Given the description of an element on the screen output the (x, y) to click on. 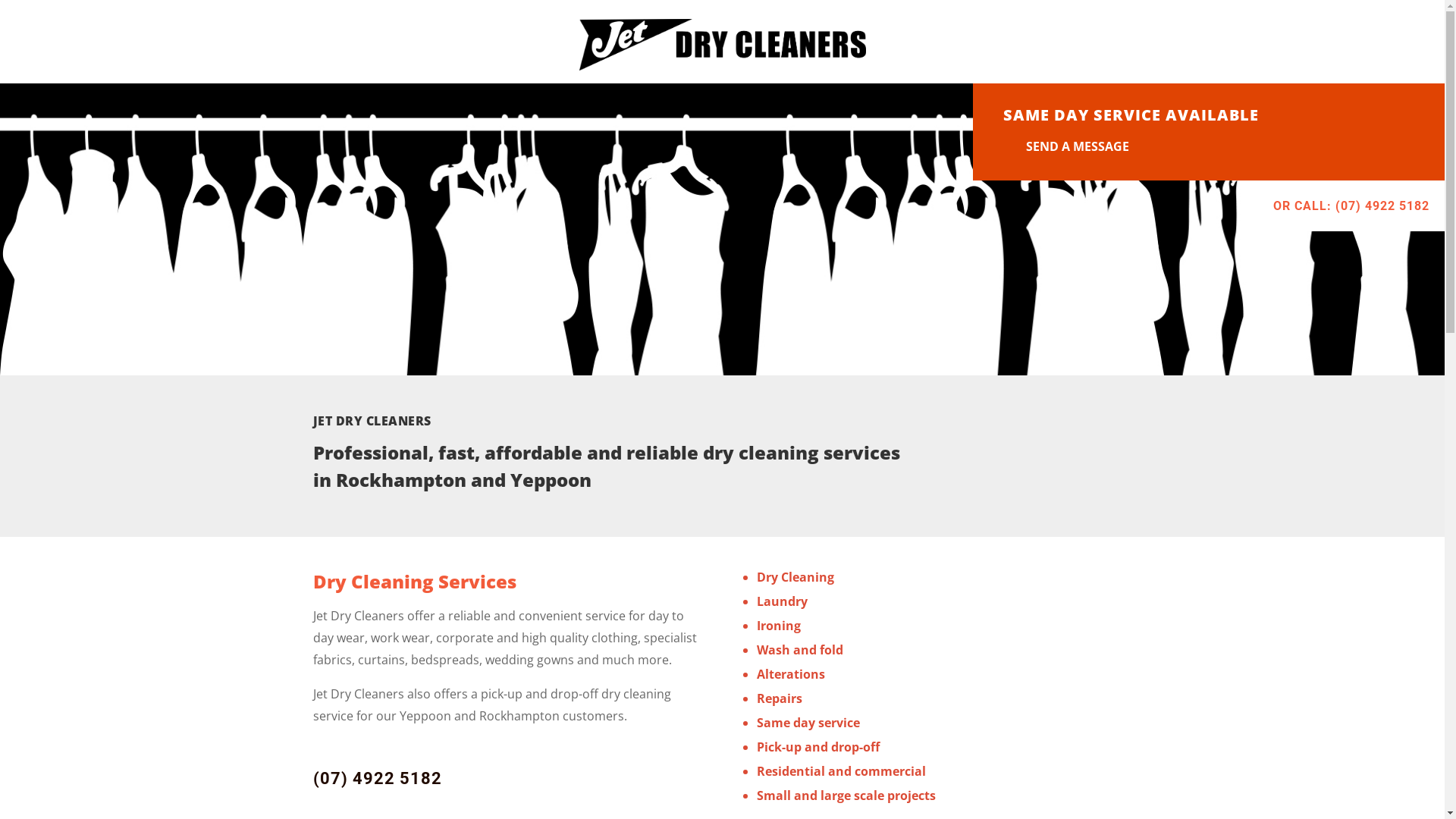
(07) 4922 5182 Element type: text (376, 778)
SEND A MESSAGE Element type: text (1077, 146)
OR CALL: (07) 4922 5182 Element type: text (1351, 205)
